Given the description of an element on the screen output the (x, y) to click on. 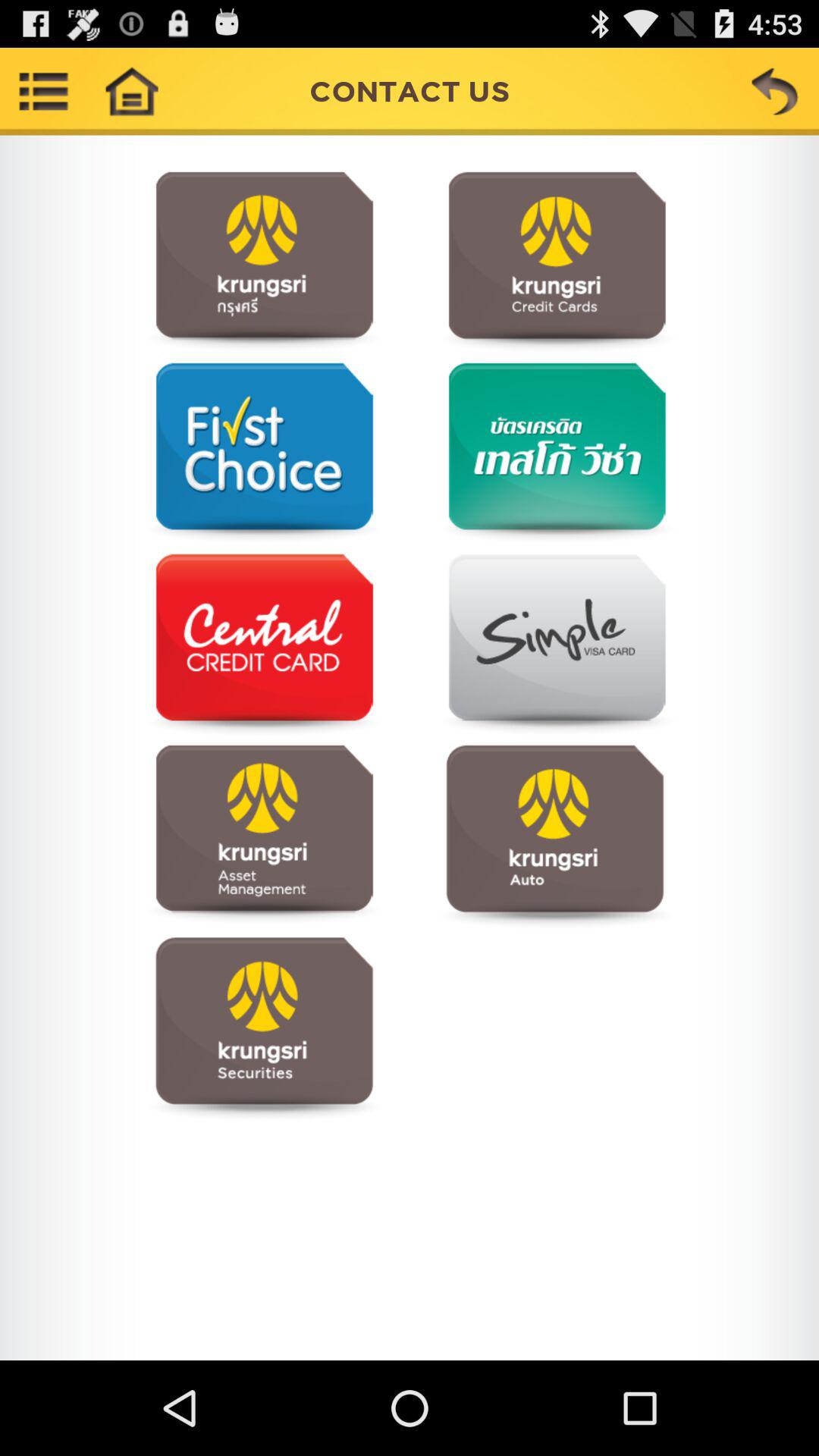
open auto (554, 835)
